Given the description of an element on the screen output the (x, y) to click on. 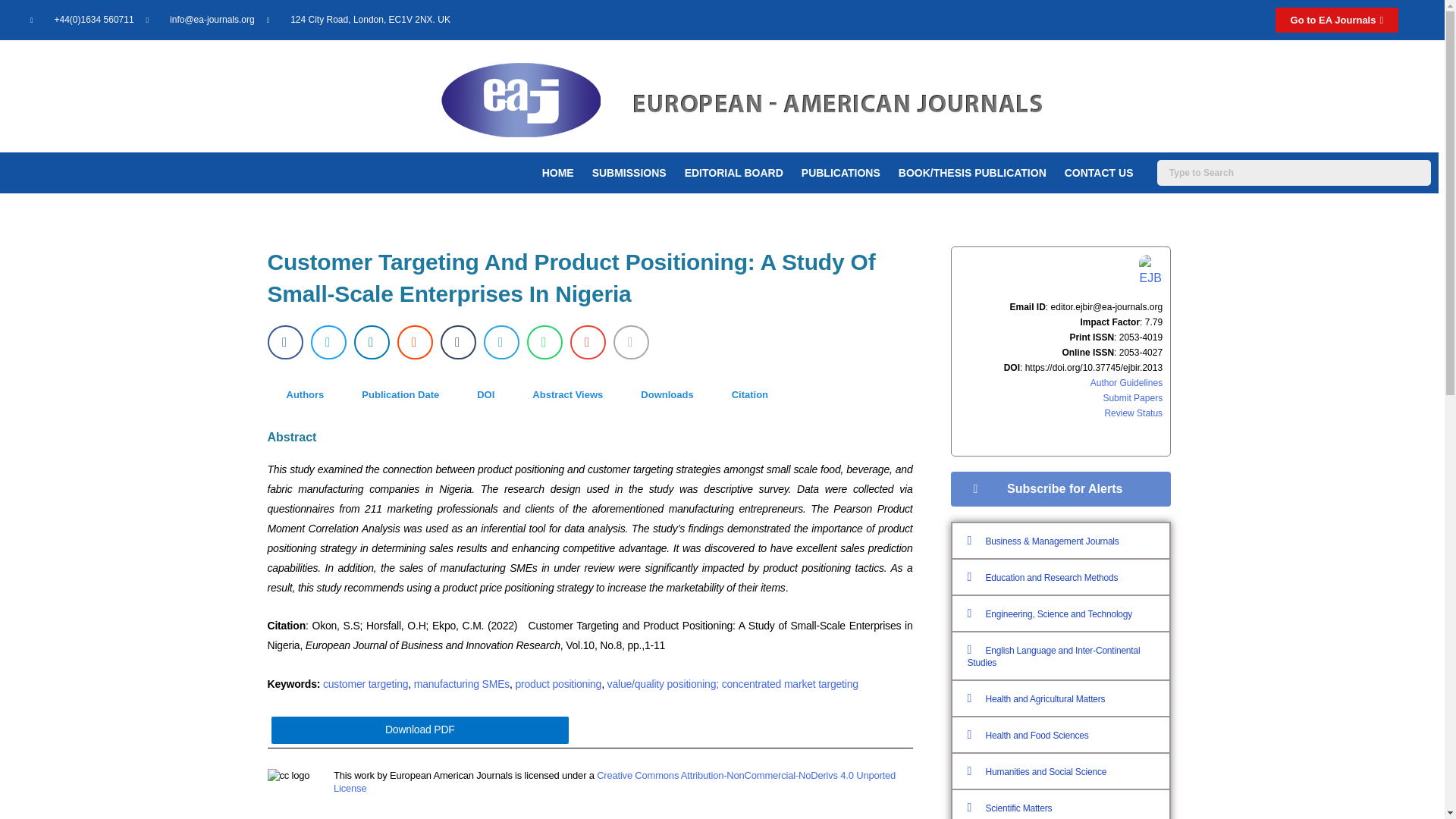
Search (1294, 172)
SUBMISSIONS (629, 172)
Download PDF (419, 729)
Download PDF (419, 729)
HOME (557, 172)
EDITORIAL BOARD (733, 172)
manufacturing SMEs (461, 684)
product positioning (558, 684)
PUBLICATIONS (840, 172)
